Given the description of an element on the screen output the (x, y) to click on. 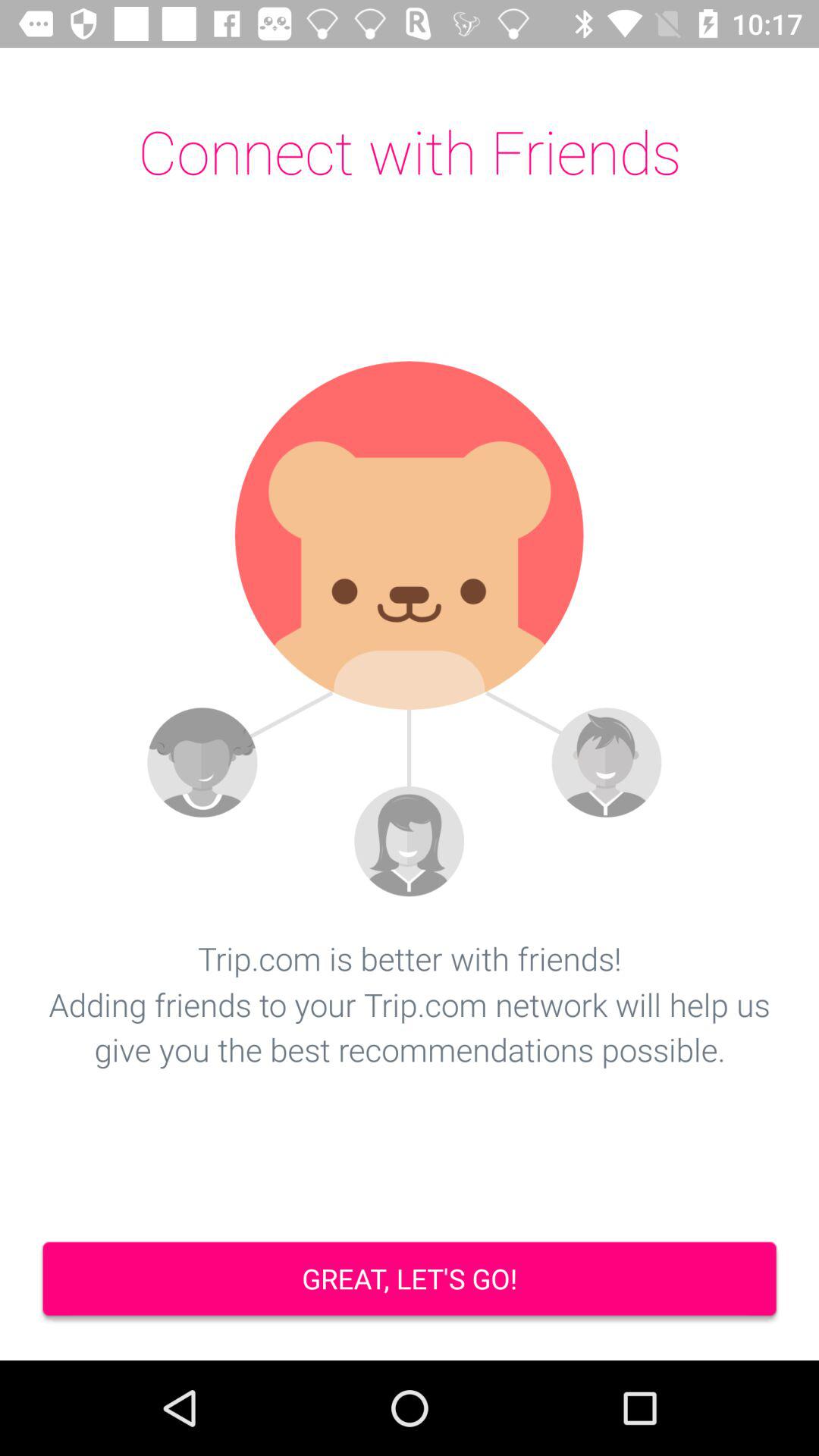
scroll until the great let s item (409, 1280)
